Given the description of an element on the screen output the (x, y) to click on. 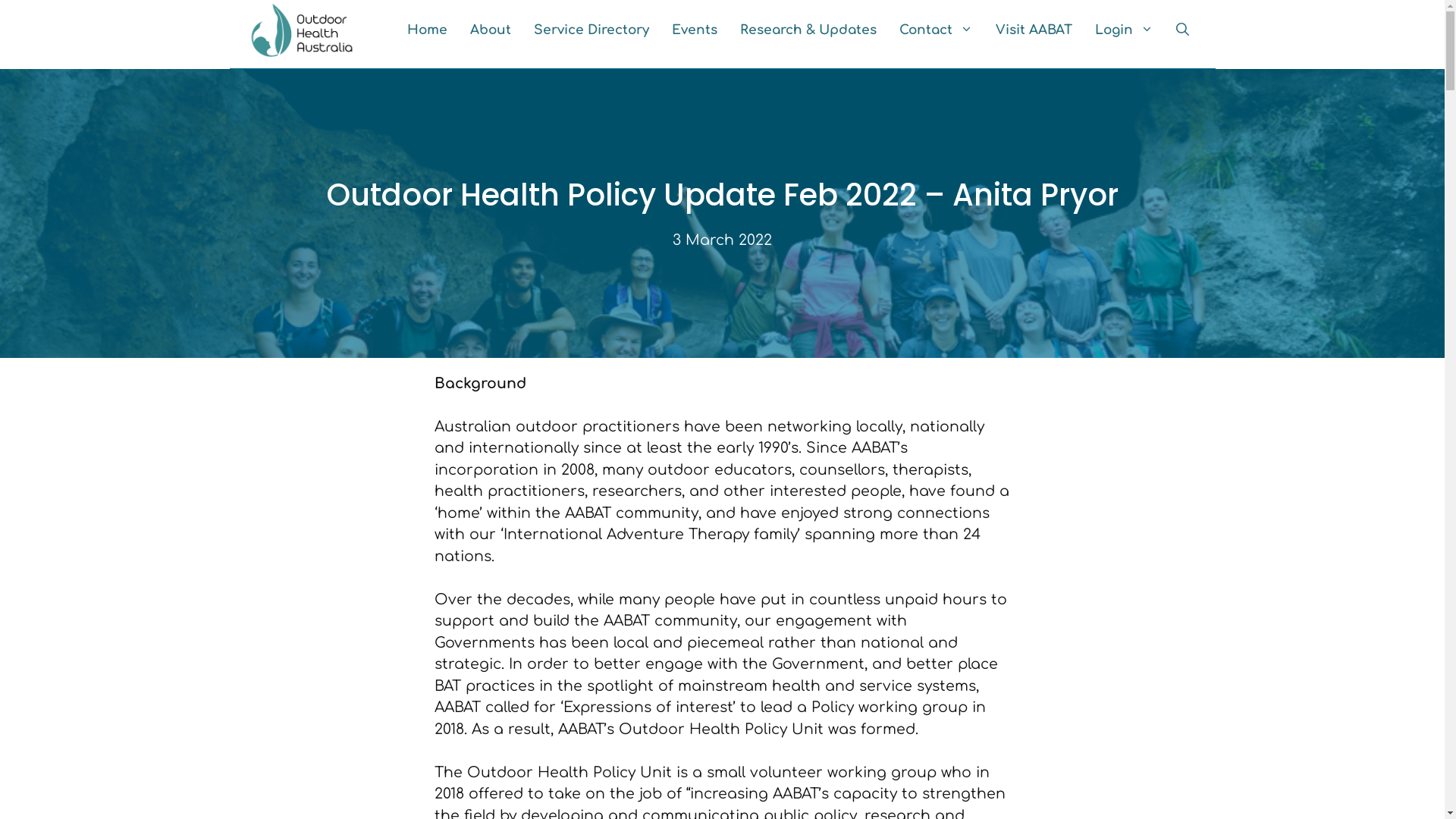
About Element type: text (489, 30)
Events Element type: text (693, 30)
Login Element type: text (1123, 30)
Service Directory Element type: text (590, 30)
Visit AABAT Element type: text (1033, 30)
Research & Updates Element type: text (807, 30)
Contact Element type: text (935, 30)
Home Element type: text (426, 30)
